Given the description of an element on the screen output the (x, y) to click on. 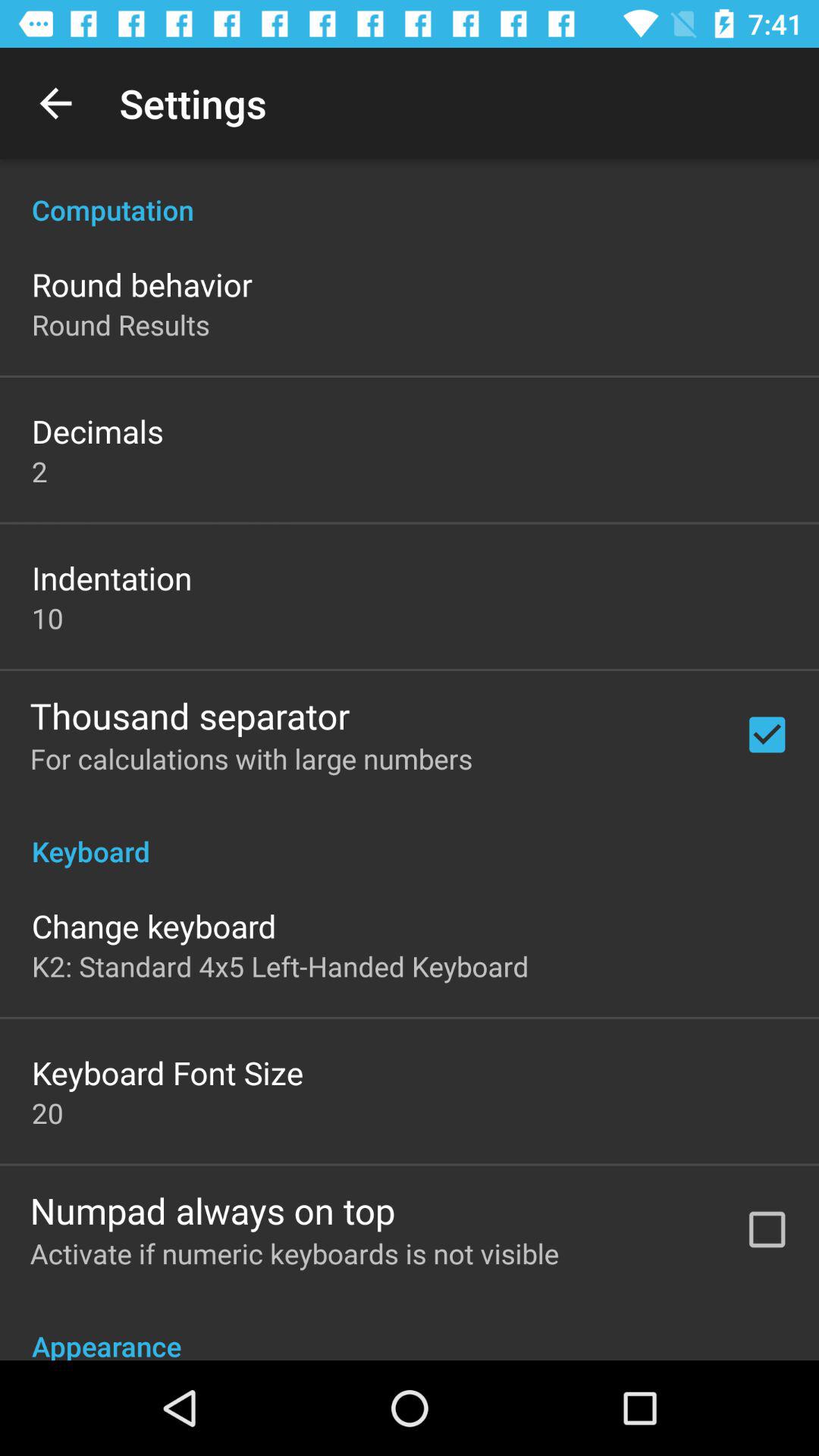
click the icon above round behavior (409, 193)
